Given the description of an element on the screen output the (x, y) to click on. 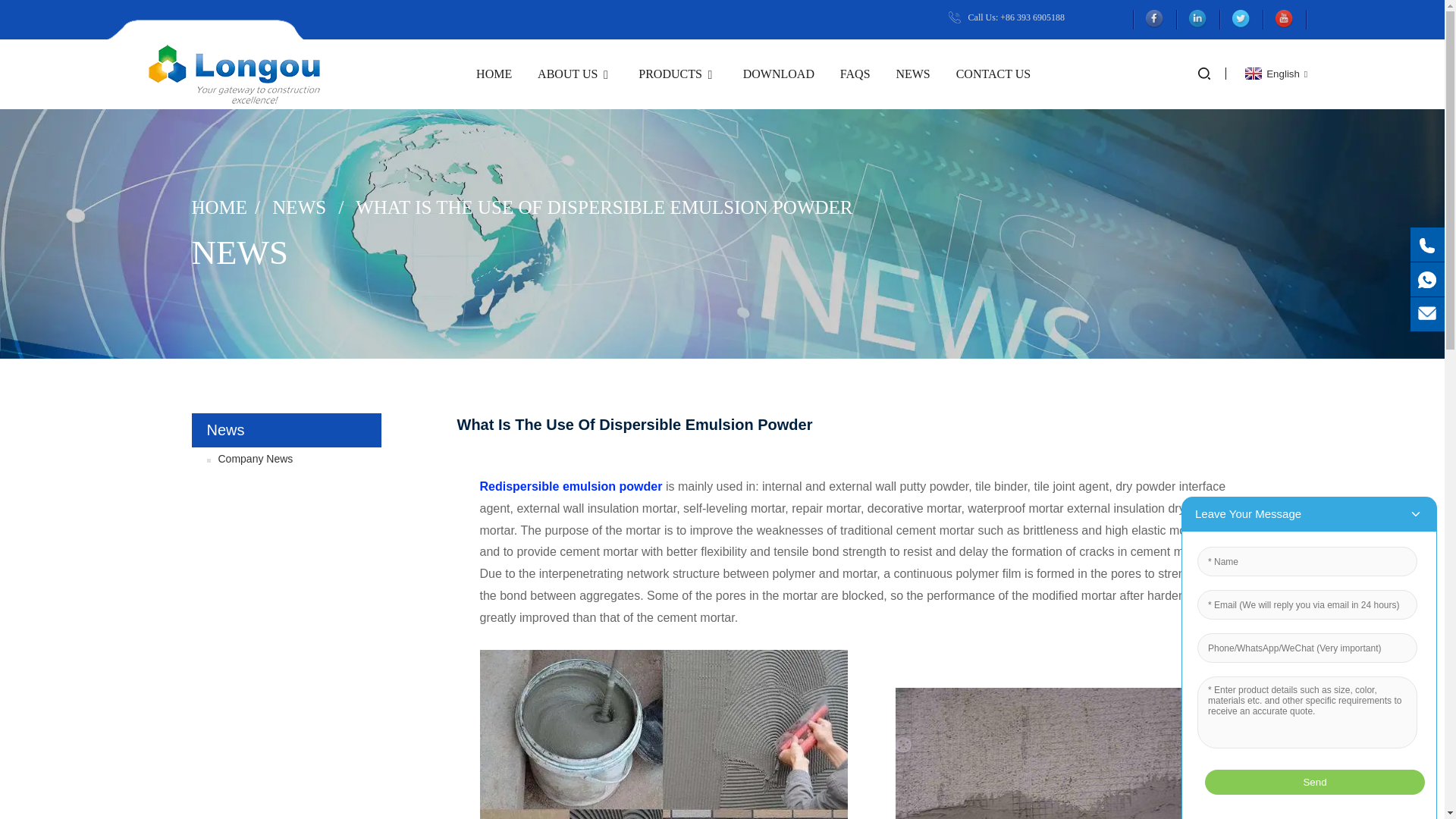
NEWS (912, 73)
HOME (494, 73)
English (1274, 73)
ABOUT US (574, 73)
DOWNLOAD (777, 73)
PRODUCTS (678, 73)
CONTACT US (993, 73)
FAQS (855, 73)
